Given the description of an element on the screen output the (x, y) to click on. 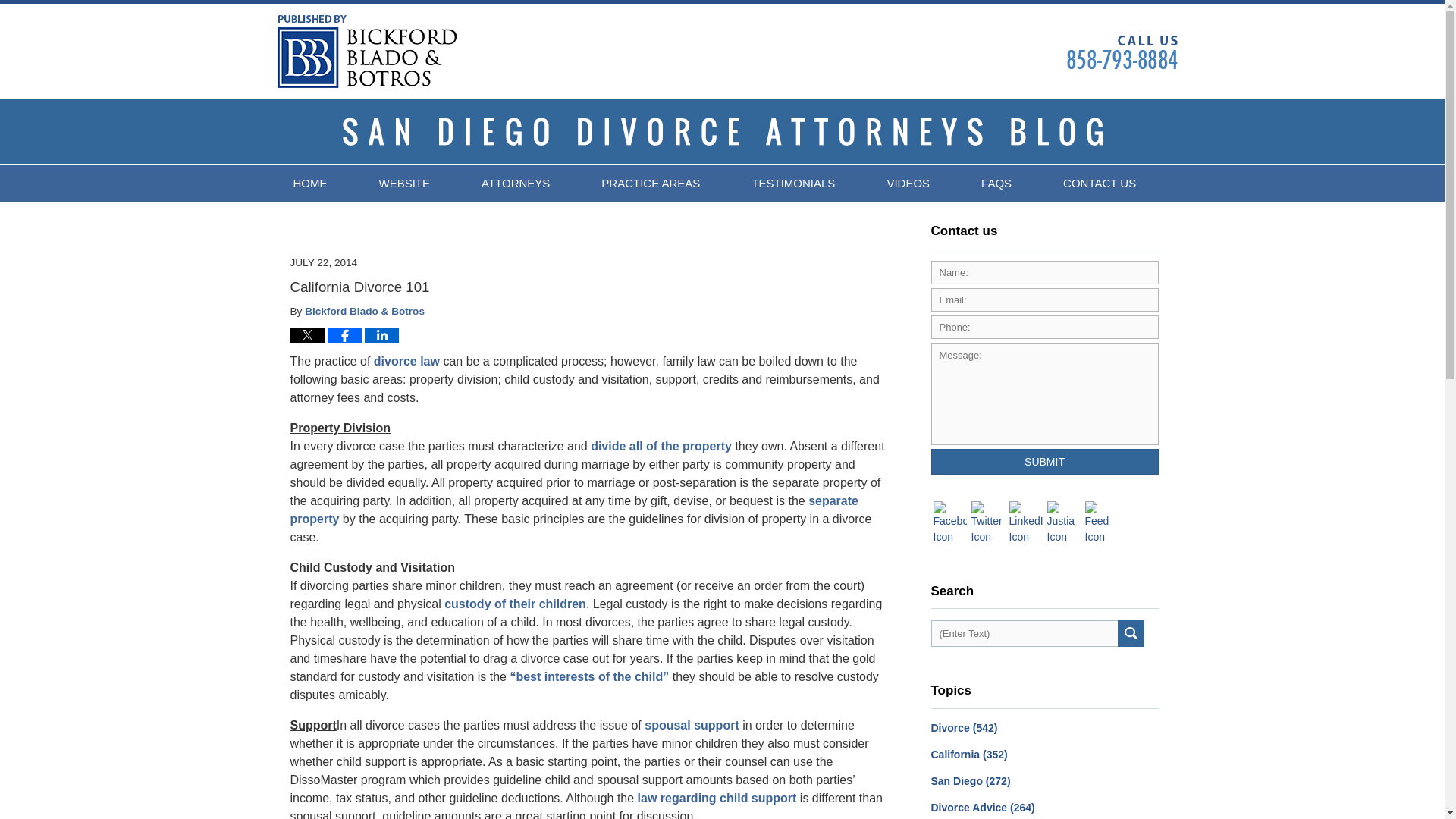
FAQS (995, 183)
WEBSITE (405, 183)
divorce law (406, 360)
PRACTICE AREAS (650, 183)
CONTACT US (1098, 183)
ATTORNEYS (515, 183)
VIDEOS (907, 183)
TESTIMONIALS (792, 183)
Please enter a valid phone number. (1044, 327)
HOME (309, 183)
